Given the description of an element on the screen output the (x, y) to click on. 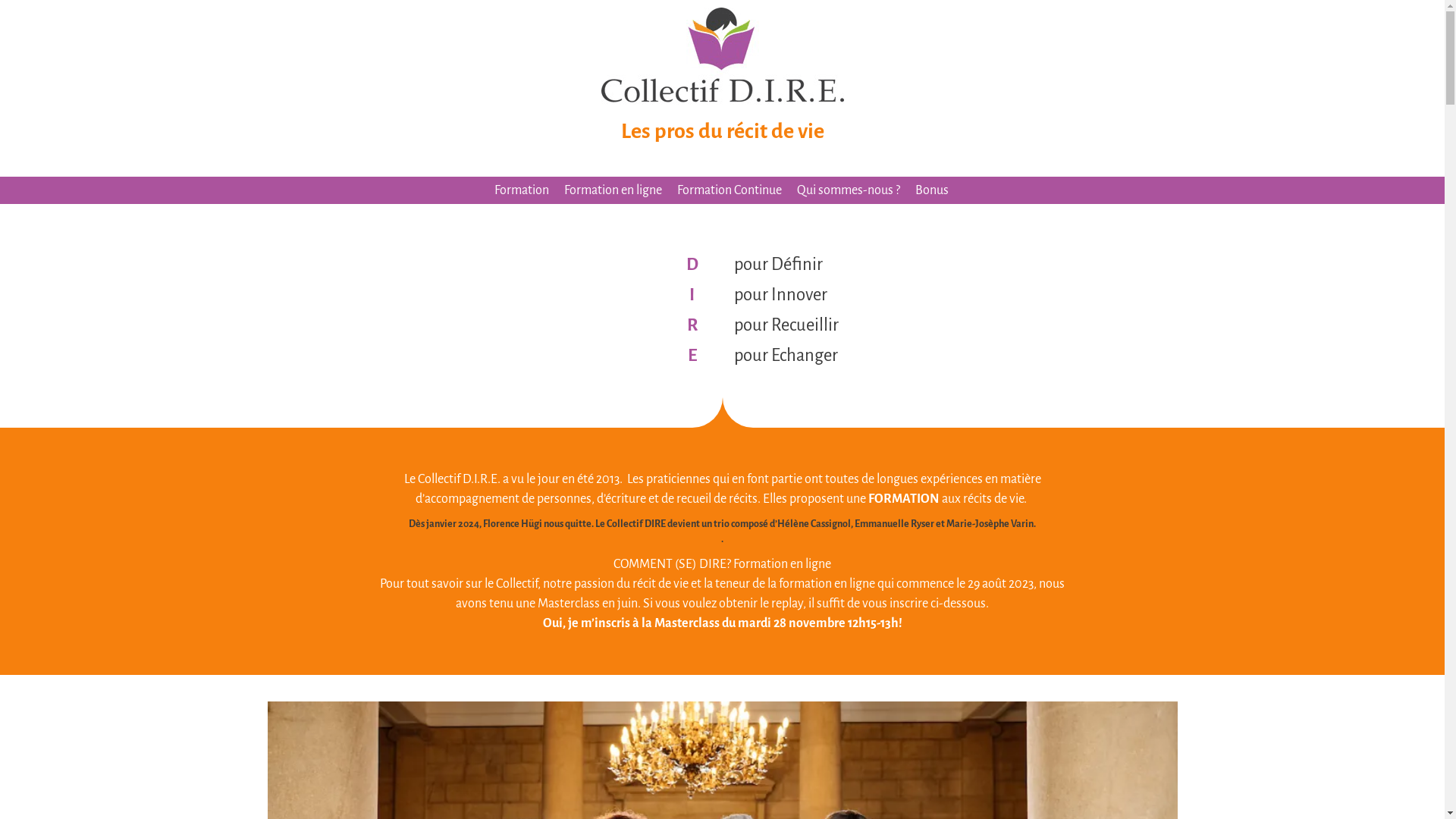
FORMATION Element type: text (903, 498)
Formation Continue Element type: text (729, 189)
Formation Element type: text (521, 189)
Qui sommes-nous ? Element type: text (848, 189)
Bonus Element type: text (931, 189)
Formation en ligne Element type: text (612, 189)
